Given the description of an element on the screen output the (x, y) to click on. 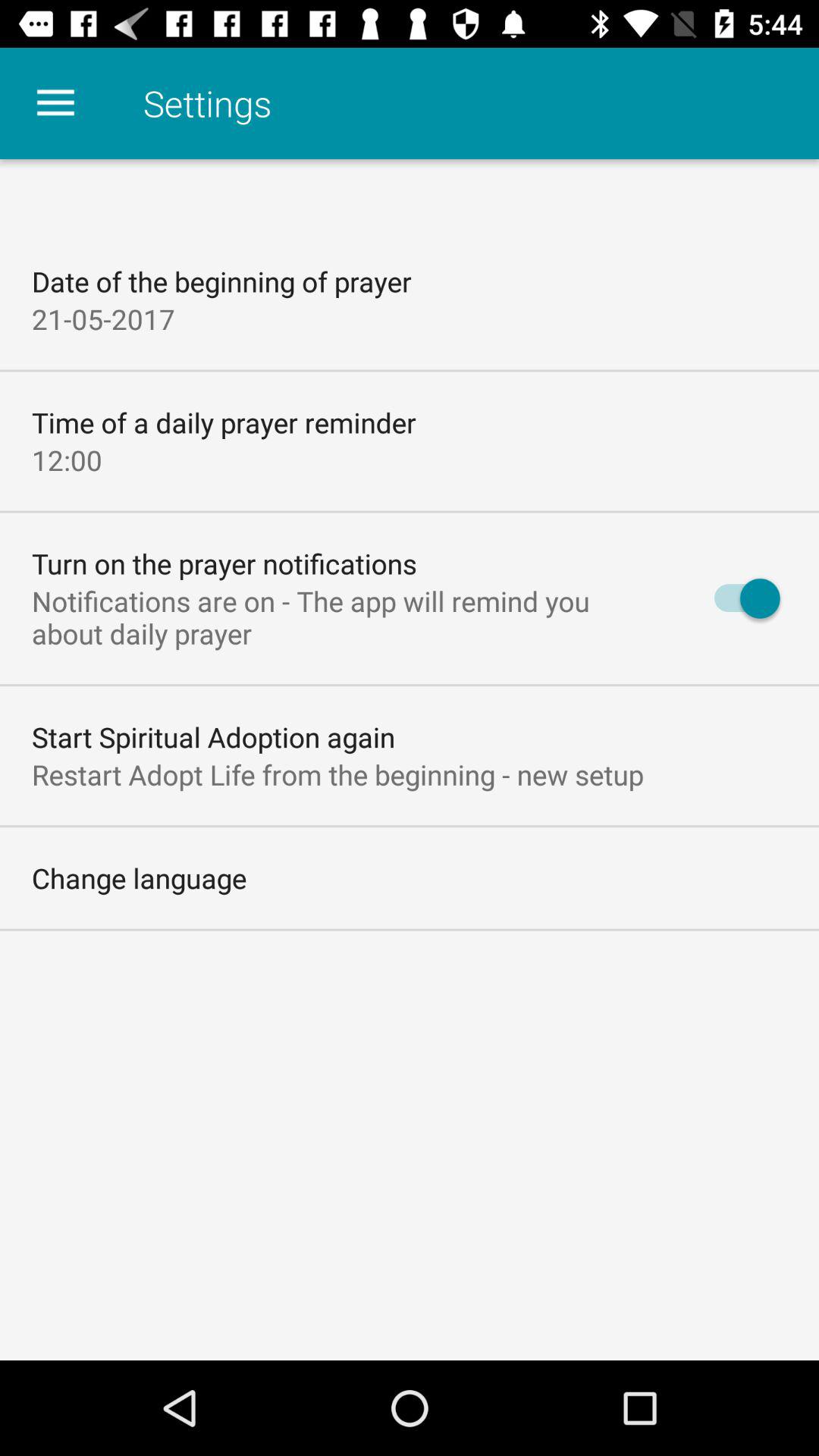
select icon to the right of notifications are on icon (739, 598)
